Given the description of an element on the screen output the (x, y) to click on. 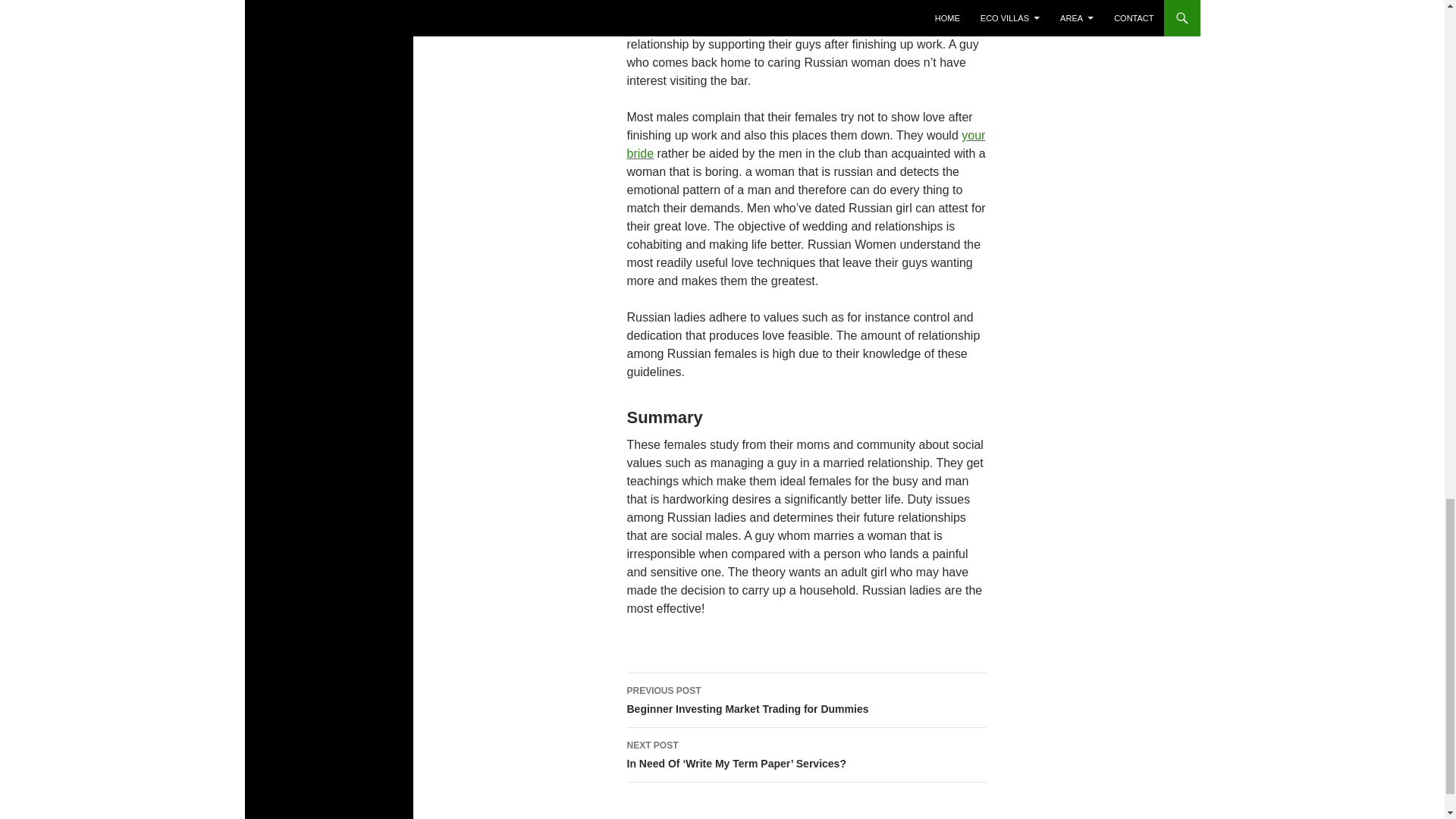
your bride (805, 700)
